Given the description of an element on the screen output the (x, y) to click on. 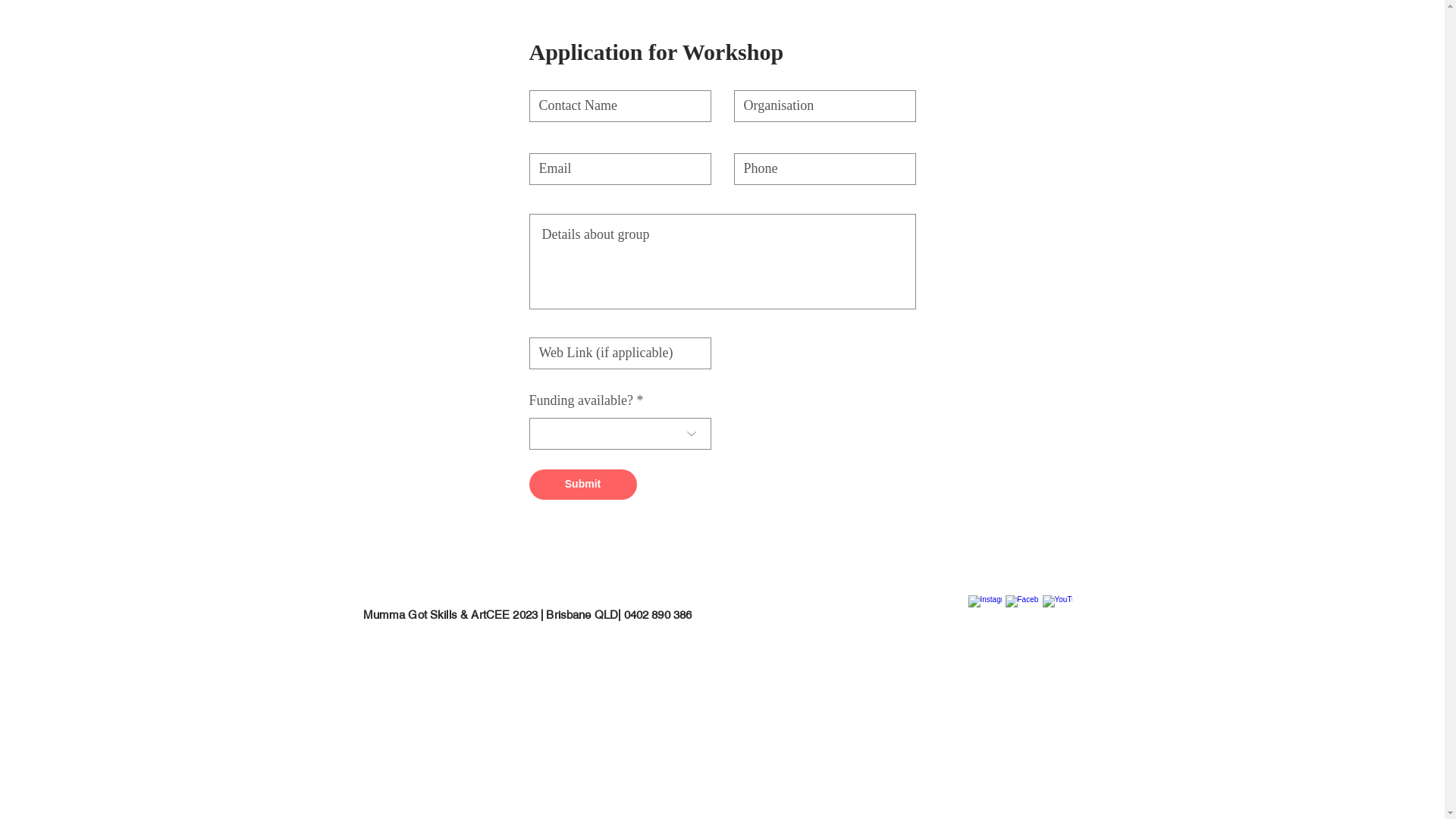
Submit Element type: text (583, 484)
